Given the description of an element on the screen output the (x, y) to click on. 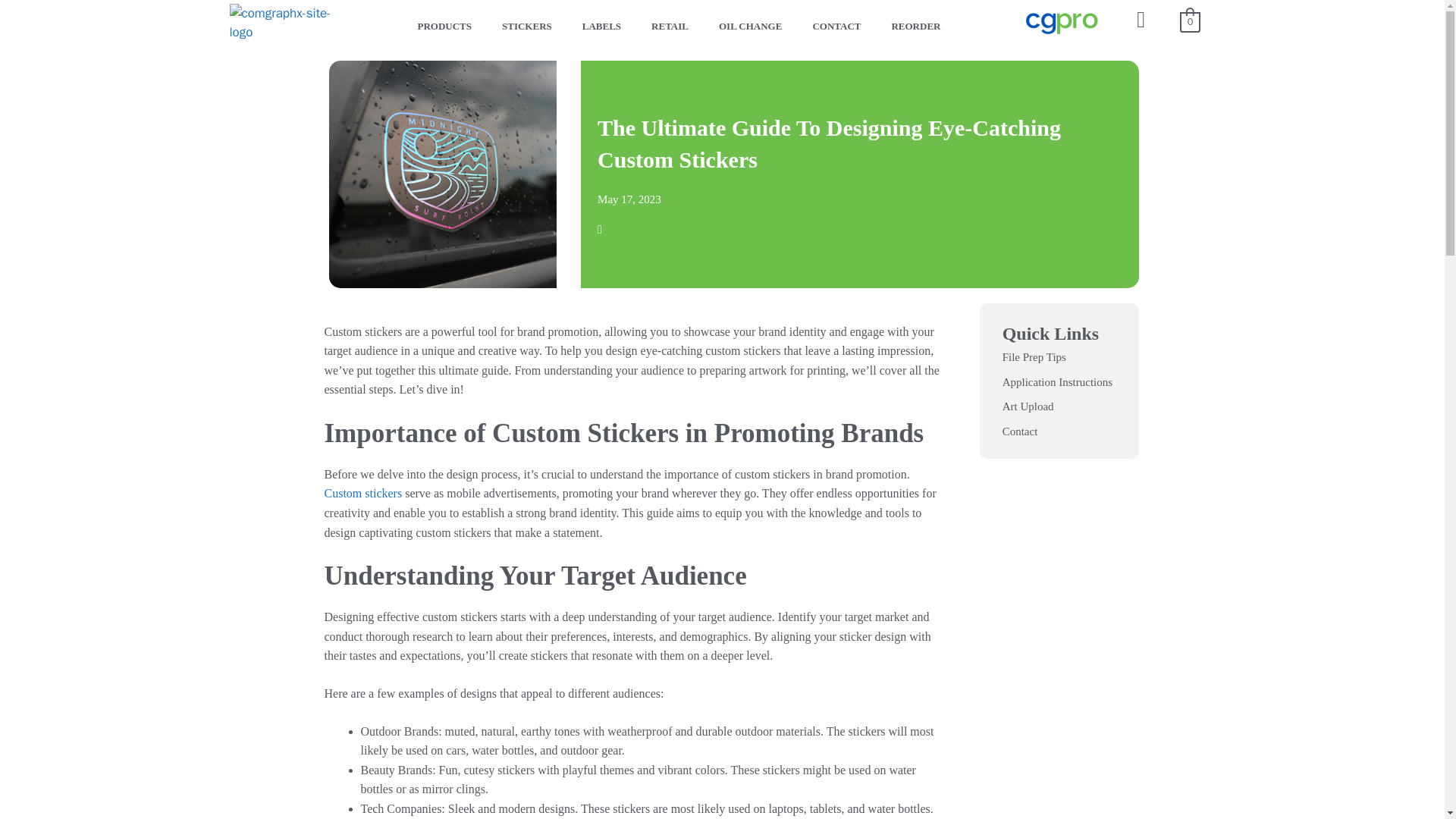
OIL CHANGE (749, 22)
May 17, 2023 (628, 199)
REORDER (915, 22)
PRODUCTS (443, 22)
comgraphx-site-logo (285, 22)
View your shopping cart (1189, 21)
LABELS (601, 22)
0 (1189, 21)
cgpro-1 (1061, 23)
RETAIL (669, 22)
